Given the description of an element on the screen output the (x, y) to click on. 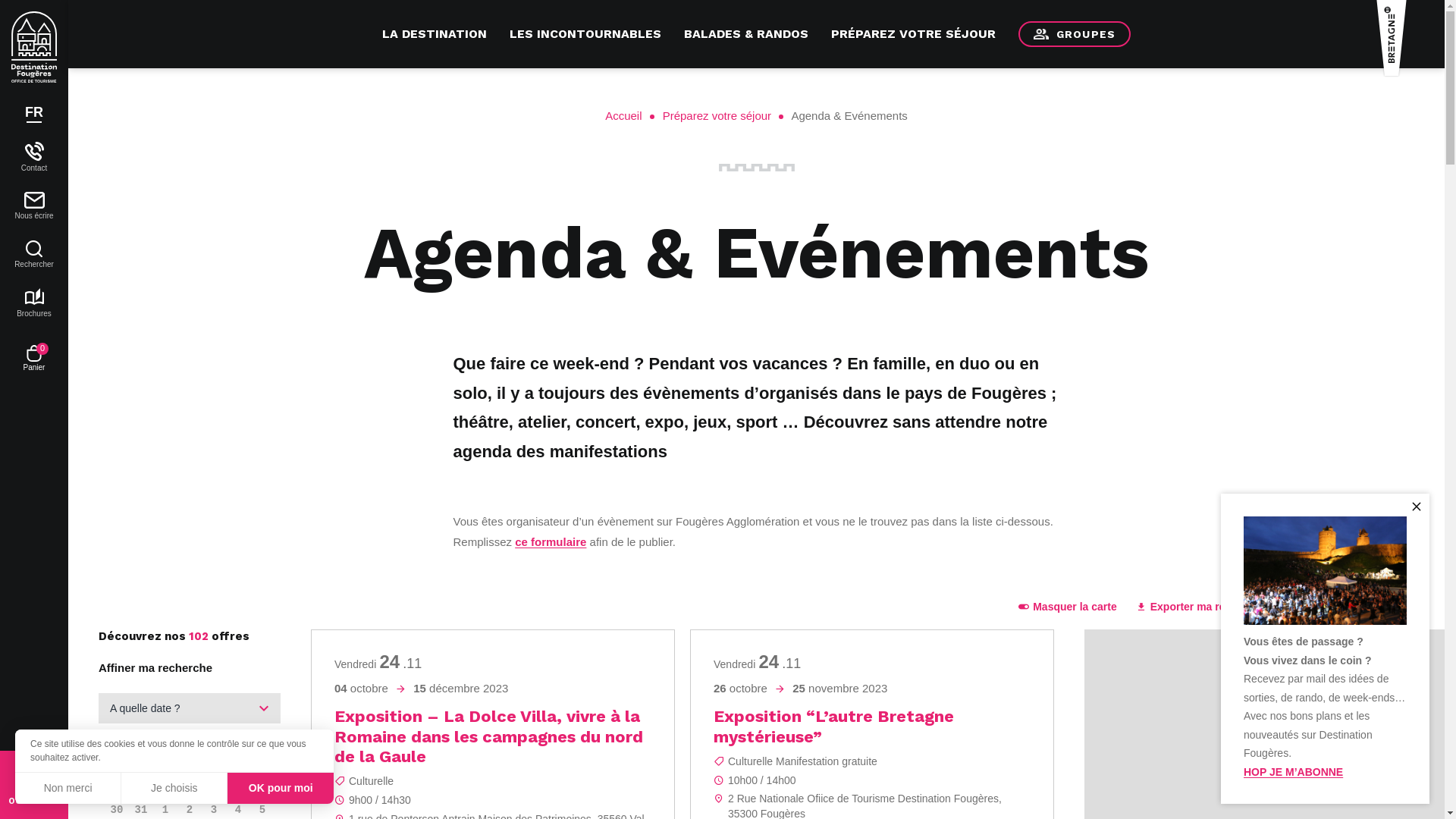
Masquer la carte Element type: text (1067, 606)
BALADES & RANDOS Element type: text (746, 34)
LA DESTINATION Element type: text (434, 34)
Contact Element type: text (33, 156)
Je choisis Element type: text (174, 787)
Brochures Element type: text (33, 302)
GROUPES Element type: text (1074, 34)
Rechercher Element type: text (33, 254)
Partager ma recherche Element type: text (1349, 606)
FR Element type: text (33, 112)
Non merci Element type: text (68, 787)
LES INCONTOURNABLES Element type: text (585, 34)
ce formulaire Element type: text (550, 541)
Exporter ma recherche Element type: text (1200, 606)
OK pour moi Element type: text (280, 787)
Accueil Element type: text (631, 115)
